Given the description of an element on the screen output the (x, y) to click on. 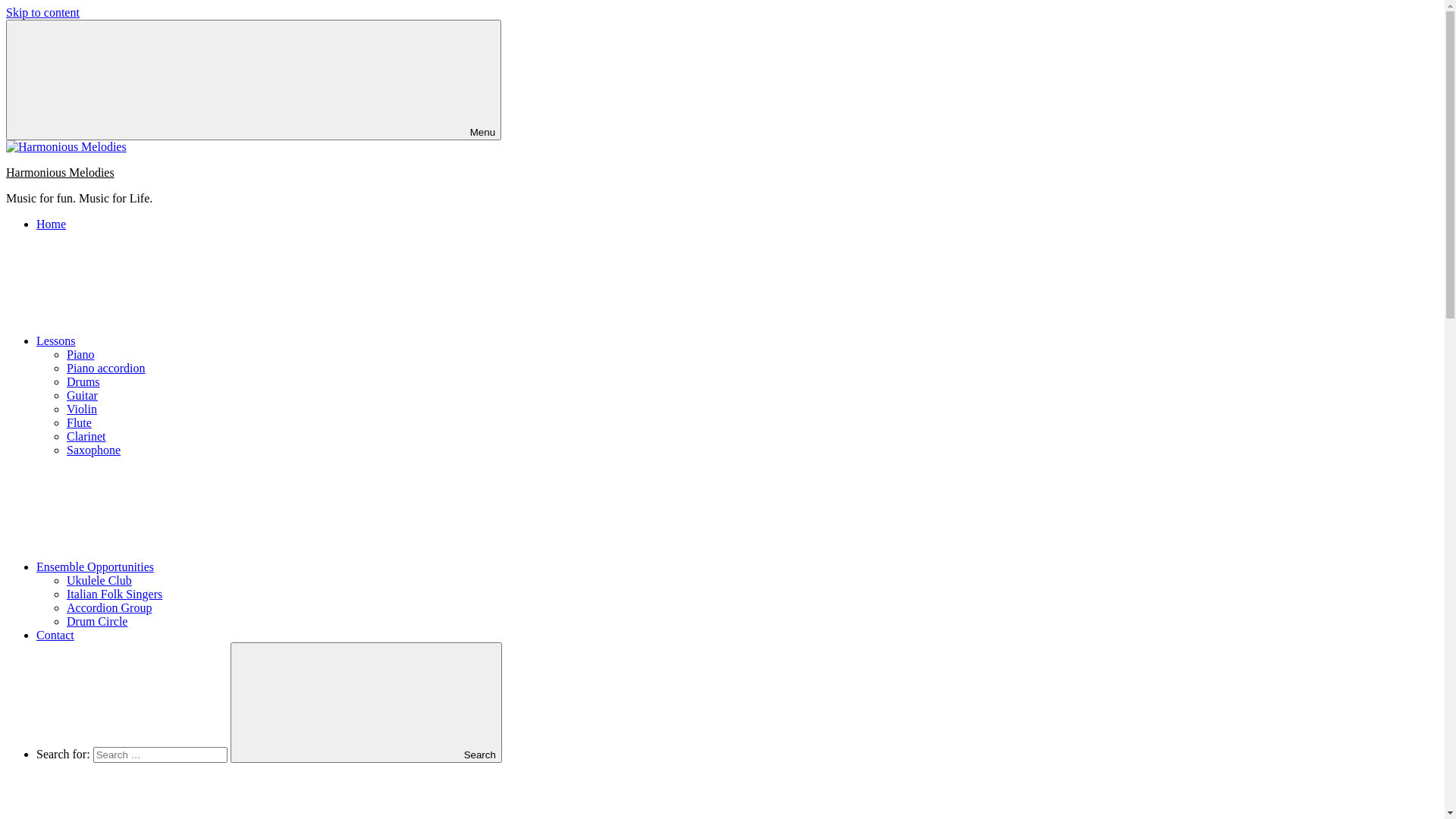
Harmonious Melodies Element type: text (60, 172)
Accordion Group Element type: text (108, 607)
Saxophone Element type: text (93, 449)
Contact Element type: text (55, 634)
Menu Element type: text (253, 79)
Drum Circle Element type: text (96, 621)
Piano accordion Element type: text (105, 367)
Piano Element type: text (80, 354)
Violin Element type: text (81, 408)
Search Element type: text (366, 702)
Skip to content Element type: text (42, 12)
Italian Folk Singers Element type: text (114, 593)
Drums Element type: text (83, 381)
Lessons Element type: text (169, 340)
Ensemble Opportunities Element type: text (208, 566)
Clarinet Element type: text (86, 435)
Flute Element type: text (78, 422)
Home Element type: text (50, 223)
Guitar Element type: text (81, 395)
Ukulele Club Element type: text (98, 580)
